Given the description of an element on the screen output the (x, y) to click on. 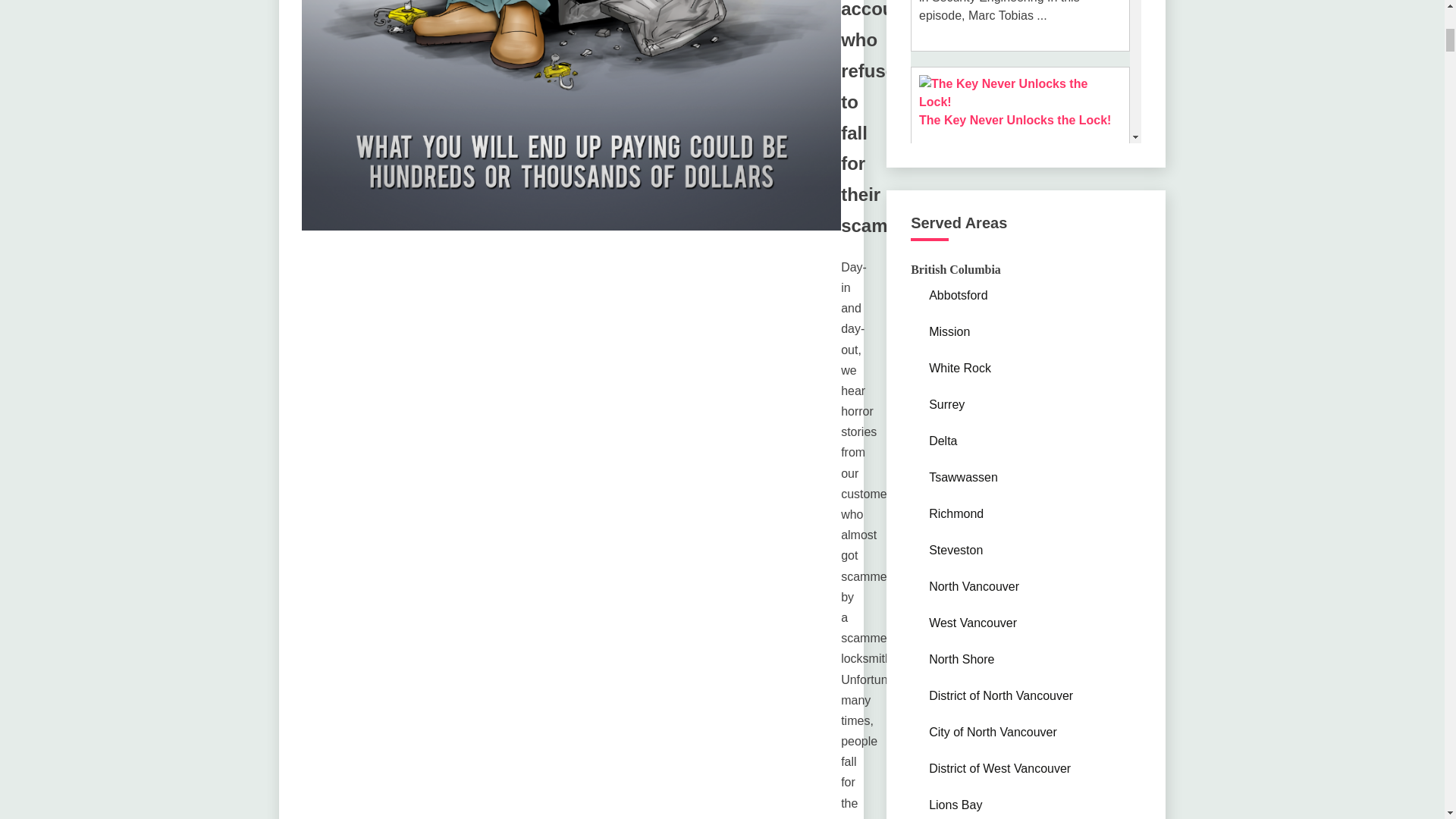
District of North Vancouver (1000, 694)
White Rock (959, 367)
Abbotsford (957, 294)
North Shore (961, 658)
North Vancouver (973, 585)
Tsawwassen (962, 476)
Steveston (955, 549)
Surrey (945, 403)
Richmond (956, 512)
Mission (948, 330)
